Given the description of an element on the screen output the (x, y) to click on. 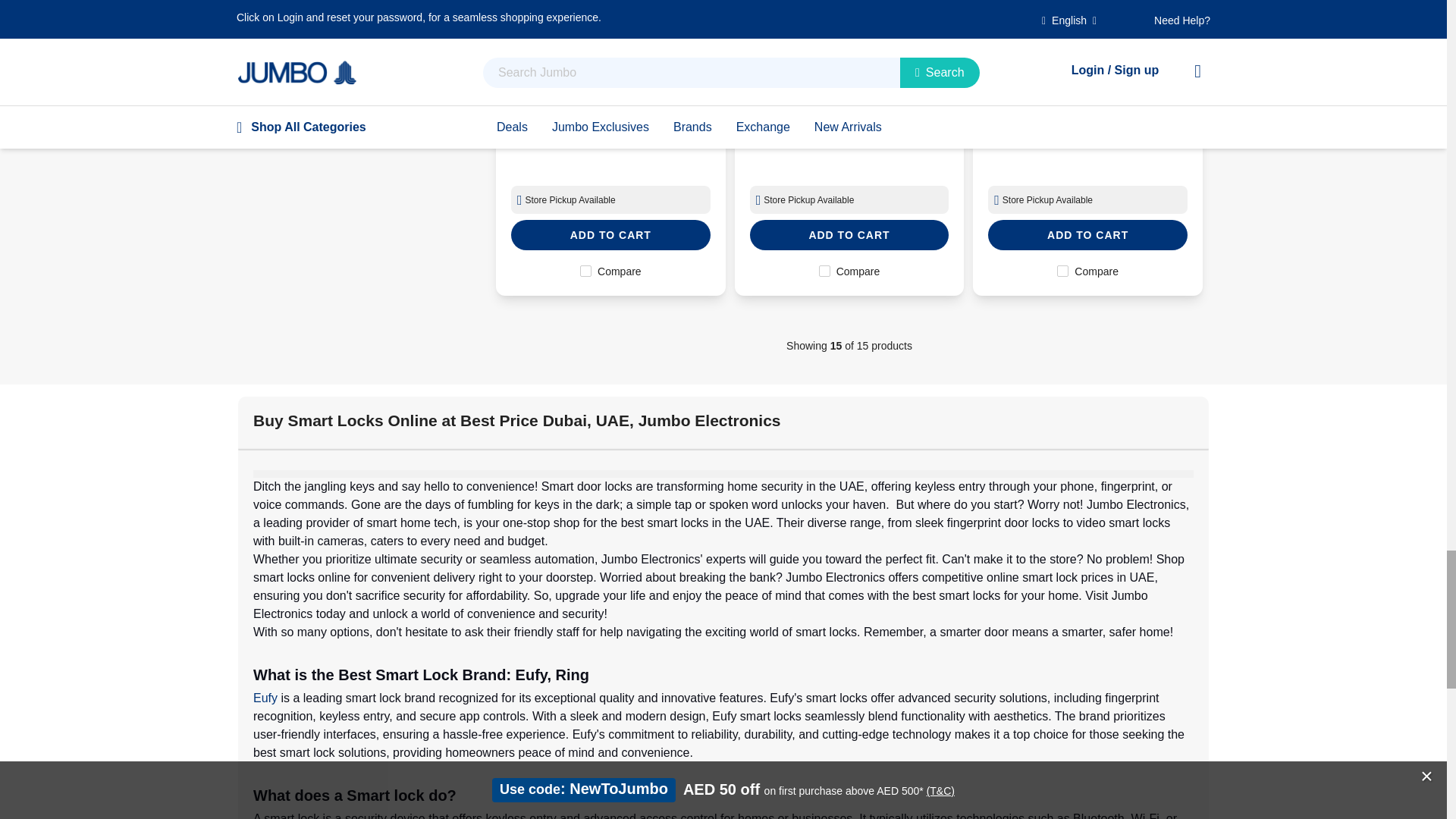
on (1062, 270)
on (585, 270)
on (823, 270)
